Given the description of an element on the screen output the (x, y) to click on. 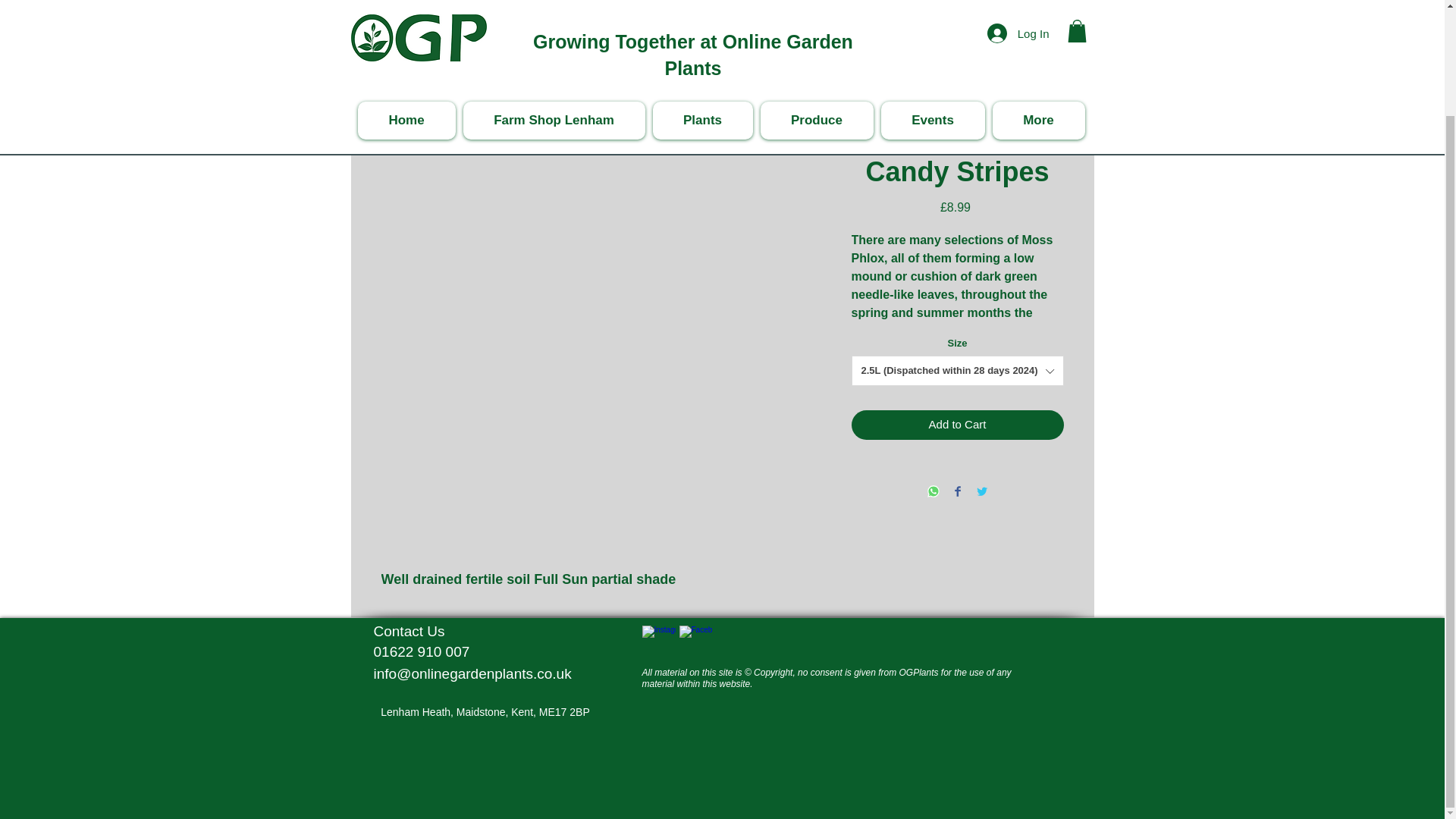
Farm Shop Lenham (554, 7)
Home (406, 7)
More (1037, 7)
Add to Cart (956, 424)
Events (932, 7)
